Given the description of an element on the screen output the (x, y) to click on. 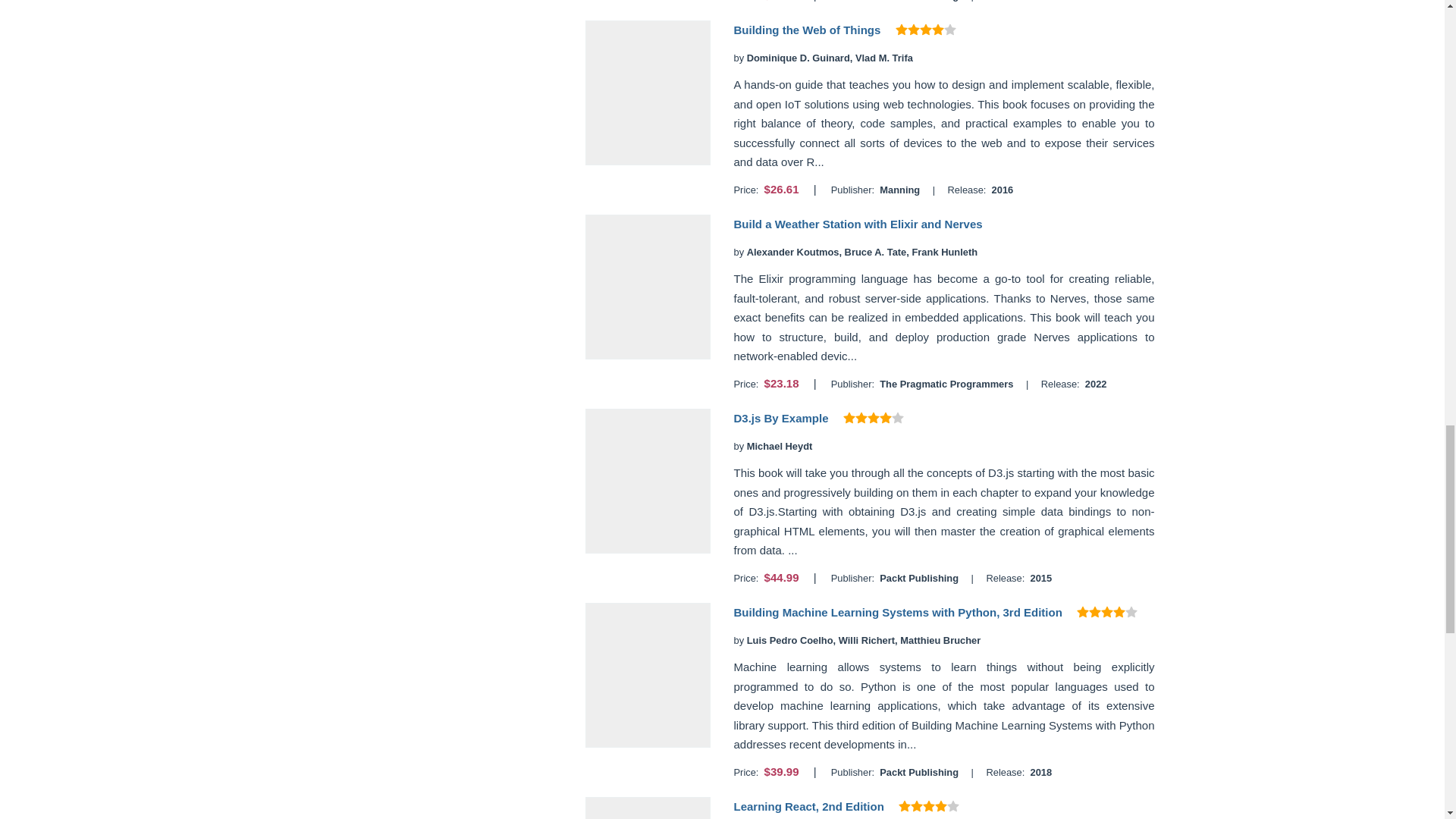
Build a Weather Station with Elixir and Nerves (857, 223)
Building the Web of Things (806, 29)
Learning React, 2nd Edition (808, 806)
D3.js By Example (780, 418)
Building Machine Learning Systems with Python, 3rd Edition (897, 612)
